Given the description of an element on the screen output the (x, y) to click on. 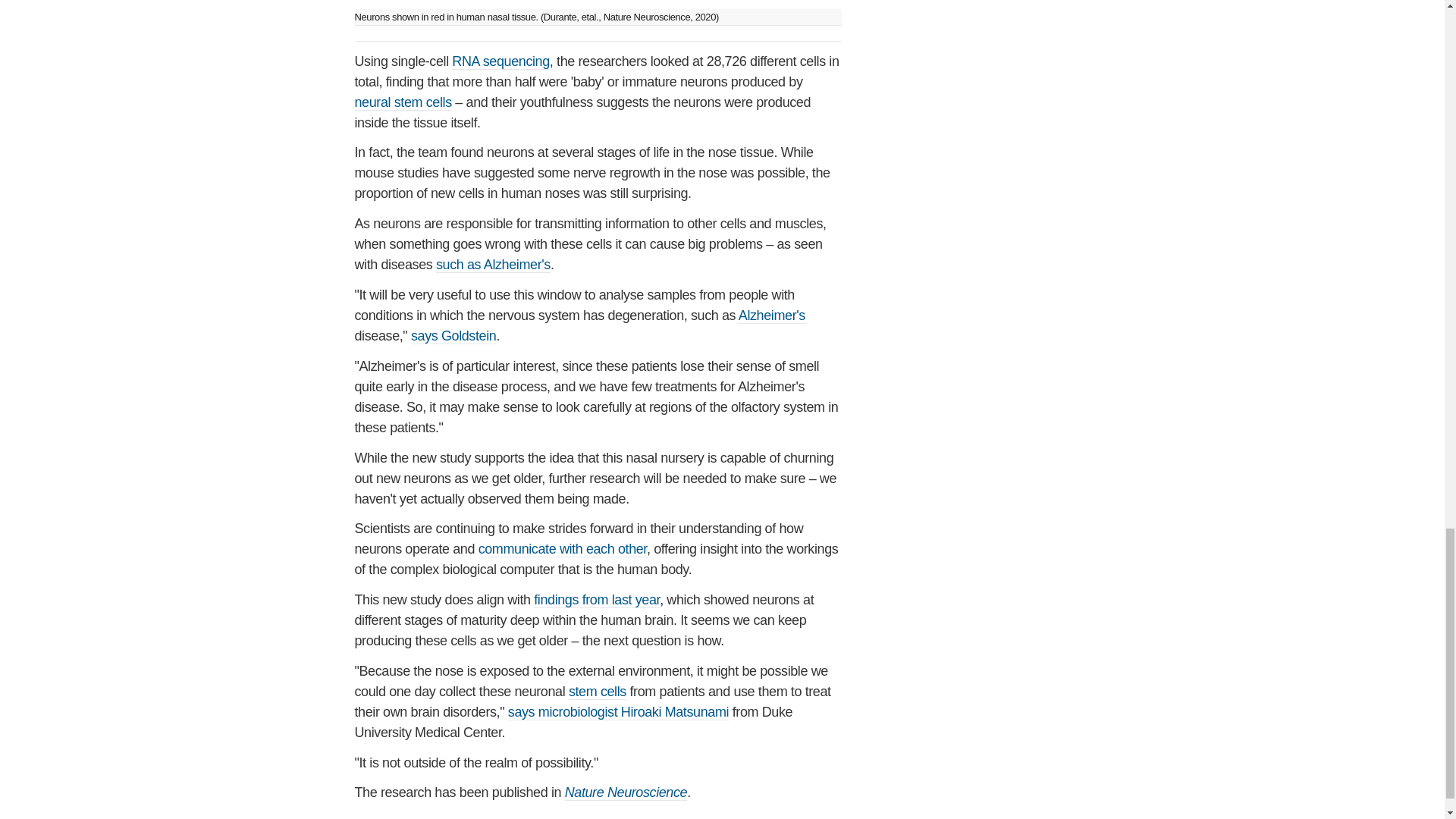
neural stem cells (403, 102)
says Goldstein (453, 335)
RNA sequencing (500, 61)
Alzheimer's (771, 315)
communicate with each other (562, 549)
such as Alzheimer's (492, 264)
